Given the description of an element on the screen output the (x, y) to click on. 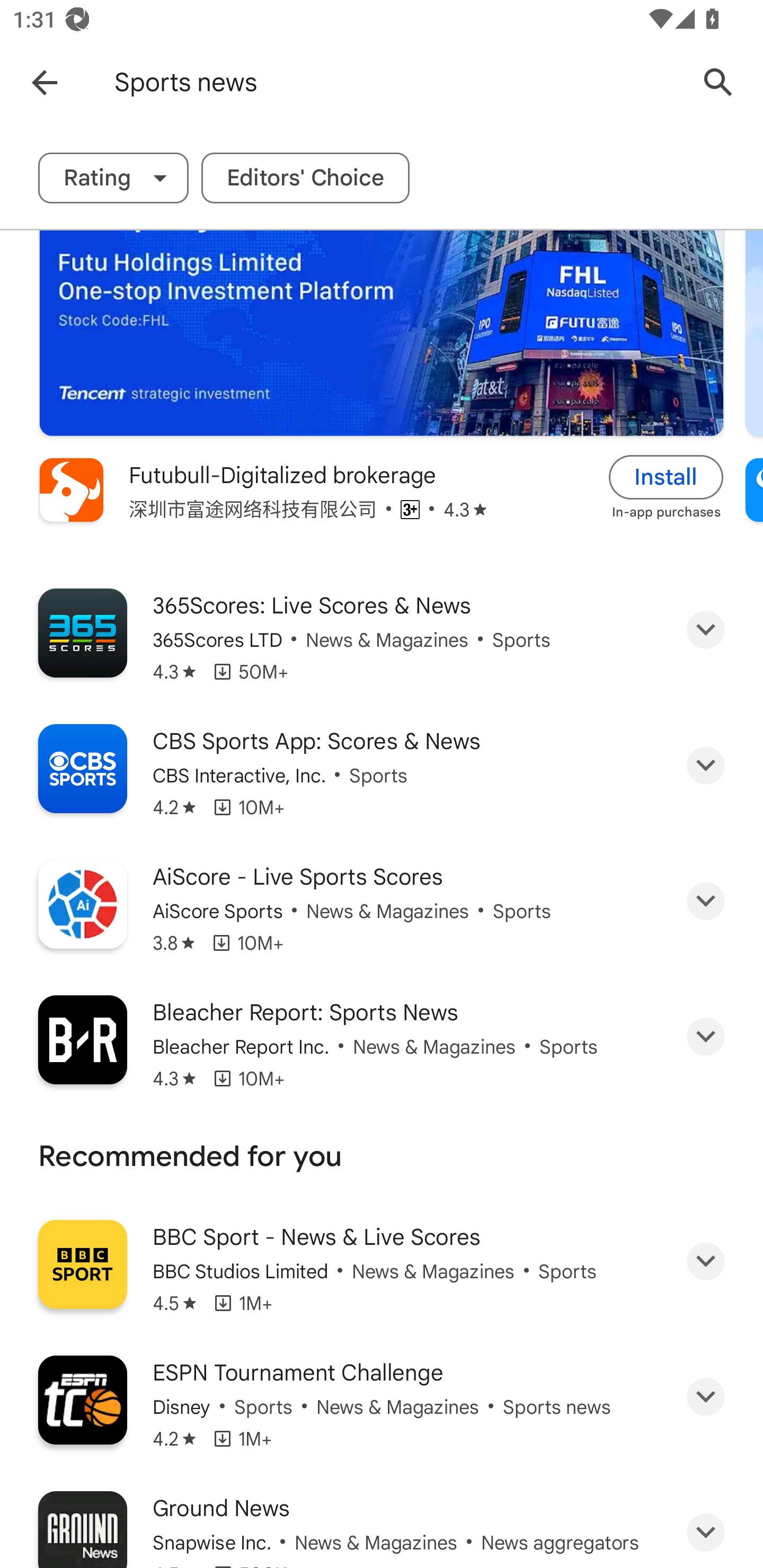
Sports news (397, 82)
Navigate up (44, 81)
Search Google Play (718, 81)
Rating - double tap to change the filter (113, 177)
Editors' Choice - double tap to toggle the filter (305, 177)
Install (665, 477)
Expand content for 365Scores: Live Scores & News (705, 629)
Expand content for CBS Sports App: Scores & News (705, 764)
Expand content for AiScore - Live Sports Scores (705, 900)
Expand content for Bleacher Report: Sports News (705, 1036)
Expand content for BBC Sport - News & Live Scores (705, 1261)
Expand content for ESPN Tournament Challenge (705, 1396)
Expand content for Ground News (705, 1531)
